Given the description of an element on the screen output the (x, y) to click on. 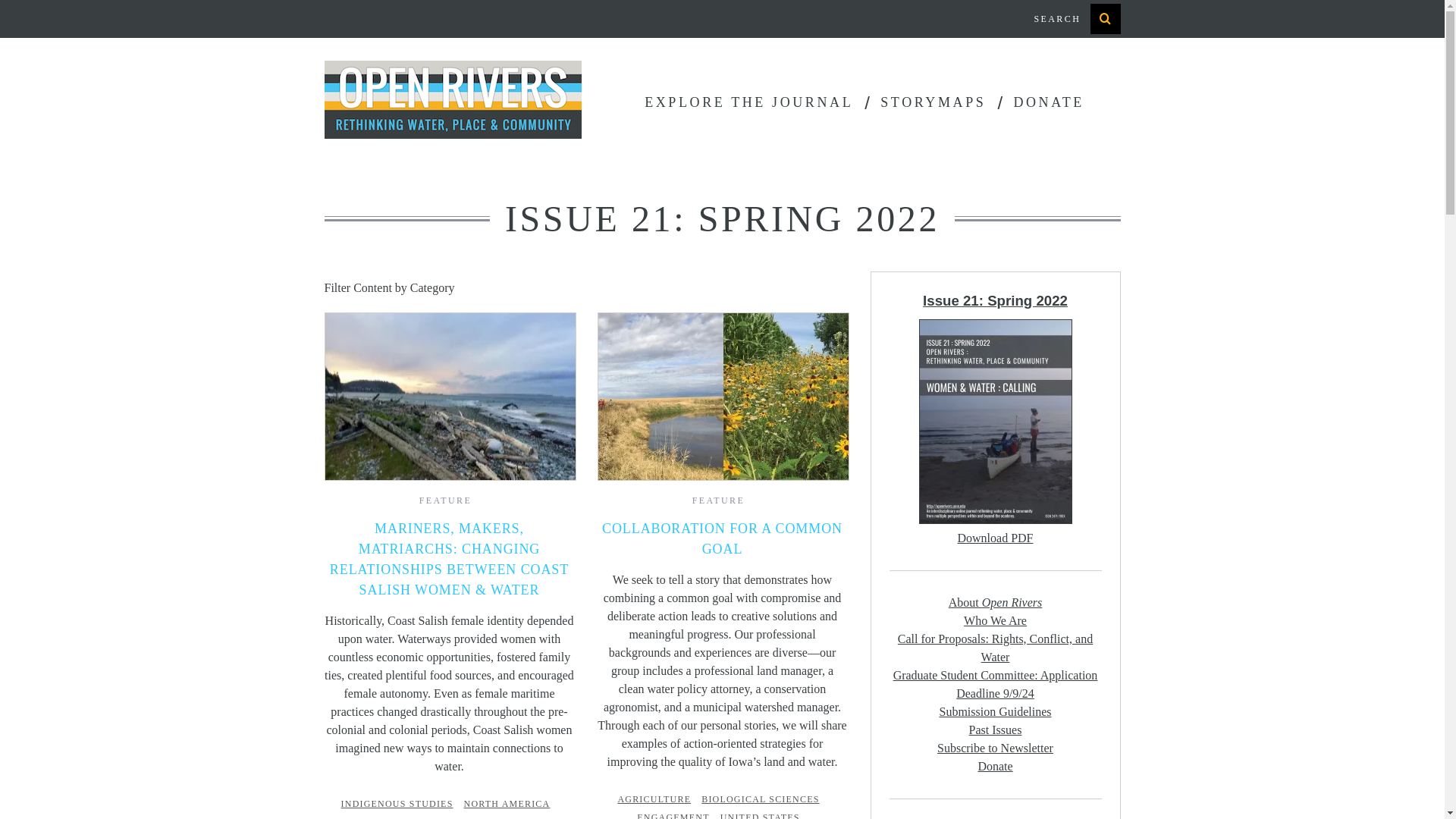
ENGAGEMENT (676, 815)
FEATURE (445, 500)
UNITED STATES (764, 815)
NORTH AMERICA (510, 803)
FEATURE (718, 500)
RESEARCH (448, 817)
DONATE (1048, 102)
EXPLORE THE JOURNAL (748, 102)
Search (1071, 18)
INDIGENOUS STUDIES (400, 803)
STORYMAPS (933, 102)
BIOLOGICAL SCIENCES (764, 798)
COLLABORATION FOR A COMMON GOAL (722, 538)
AGRICULTURE (657, 798)
